Given the description of an element on the screen output the (x, y) to click on. 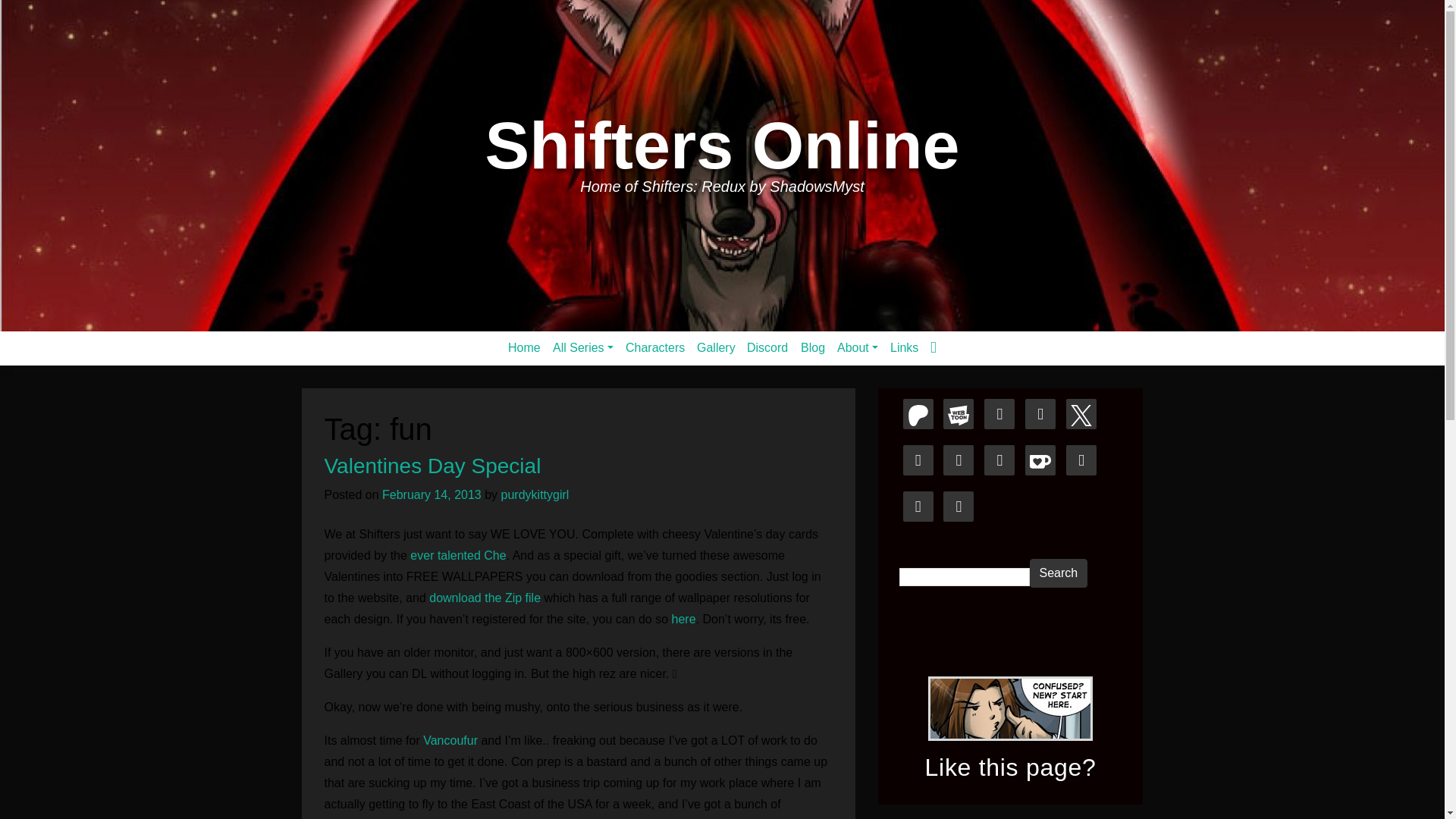
Valentines Day Special (432, 465)
Blog (812, 347)
Gallery (715, 347)
Gallery (715, 347)
February 14, 2013 (431, 494)
purdykittygirl (534, 494)
Links (903, 347)
Blog (812, 347)
Home (524, 347)
All Series (583, 347)
Characters (655, 347)
About (857, 347)
Characters (655, 347)
here (683, 618)
ever talented Che (456, 554)
